Given the description of an element on the screen output the (x, y) to click on. 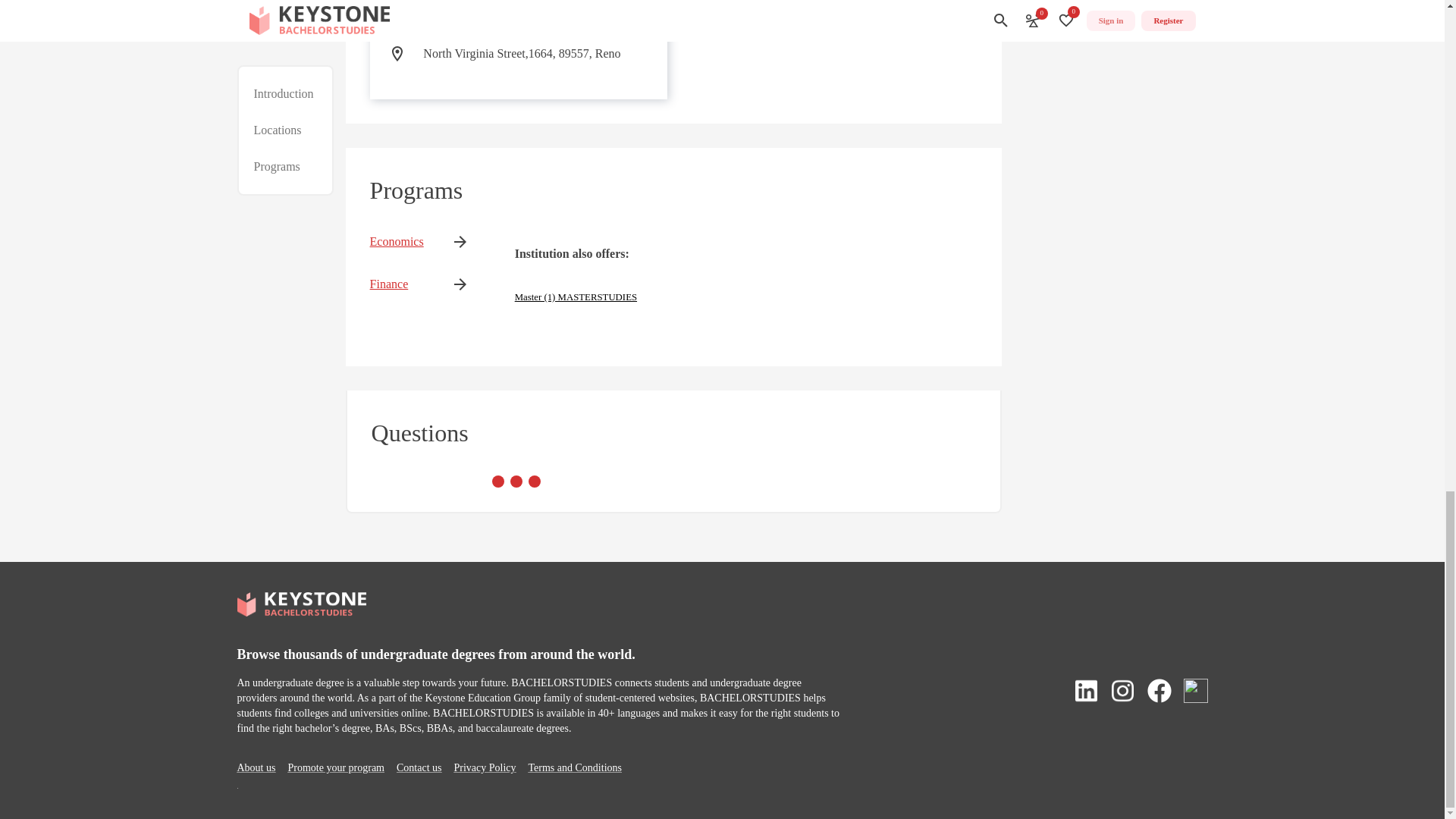
Privacy Policy (483, 767)
Promote your program (335, 767)
About us (255, 767)
Terms and Conditions (574, 767)
Finance (396, 284)
Contact us (419, 767)
Economics (396, 241)
